Given the description of an element on the screen output the (x, y) to click on. 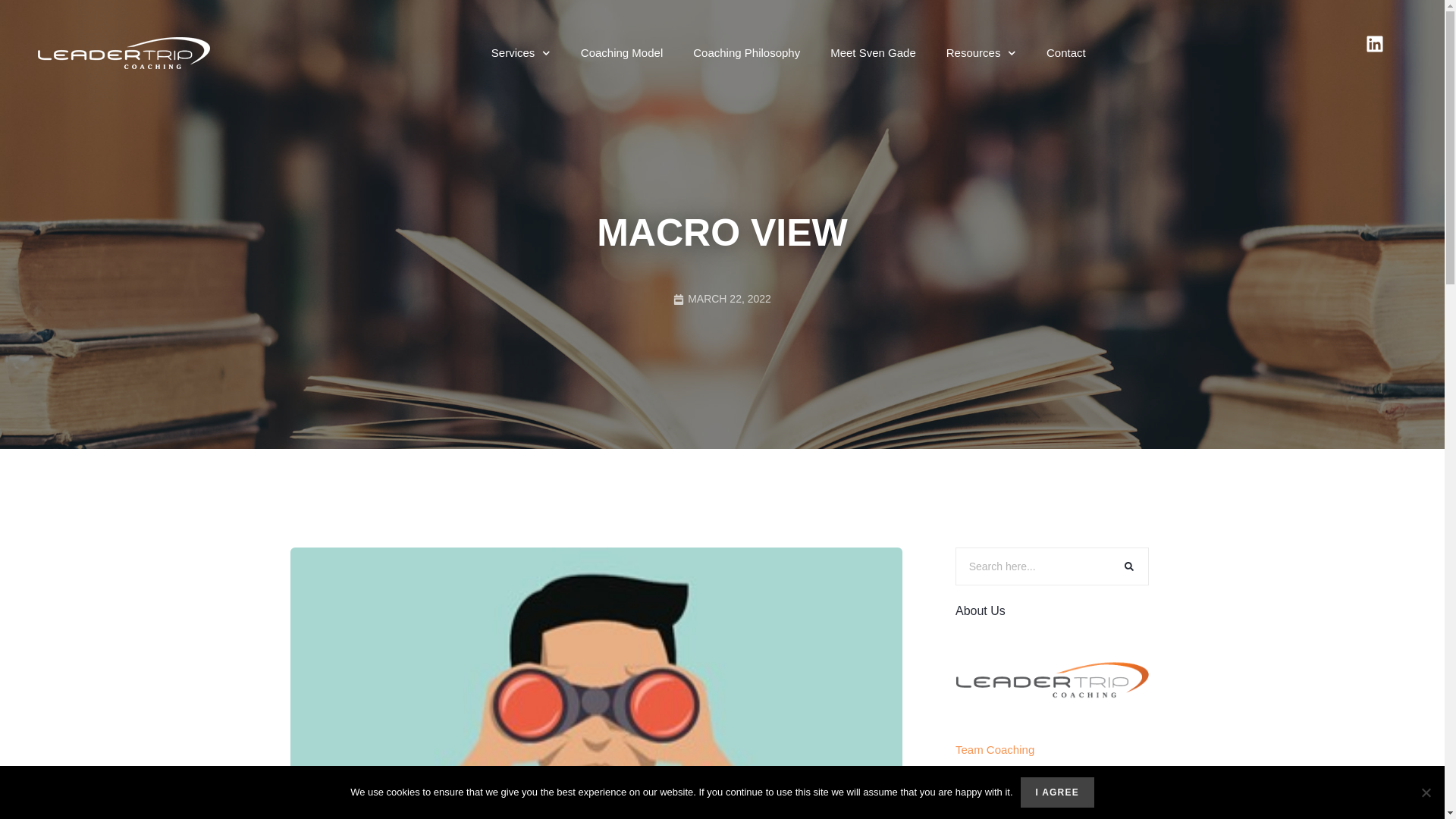
Meet Sven Gade (873, 53)
Coaching Philosophy (746, 53)
No (1425, 792)
Coaching Model (622, 53)
Resources (980, 53)
Contact (1065, 53)
Services (521, 53)
